Given the description of an element on the screen output the (x, y) to click on. 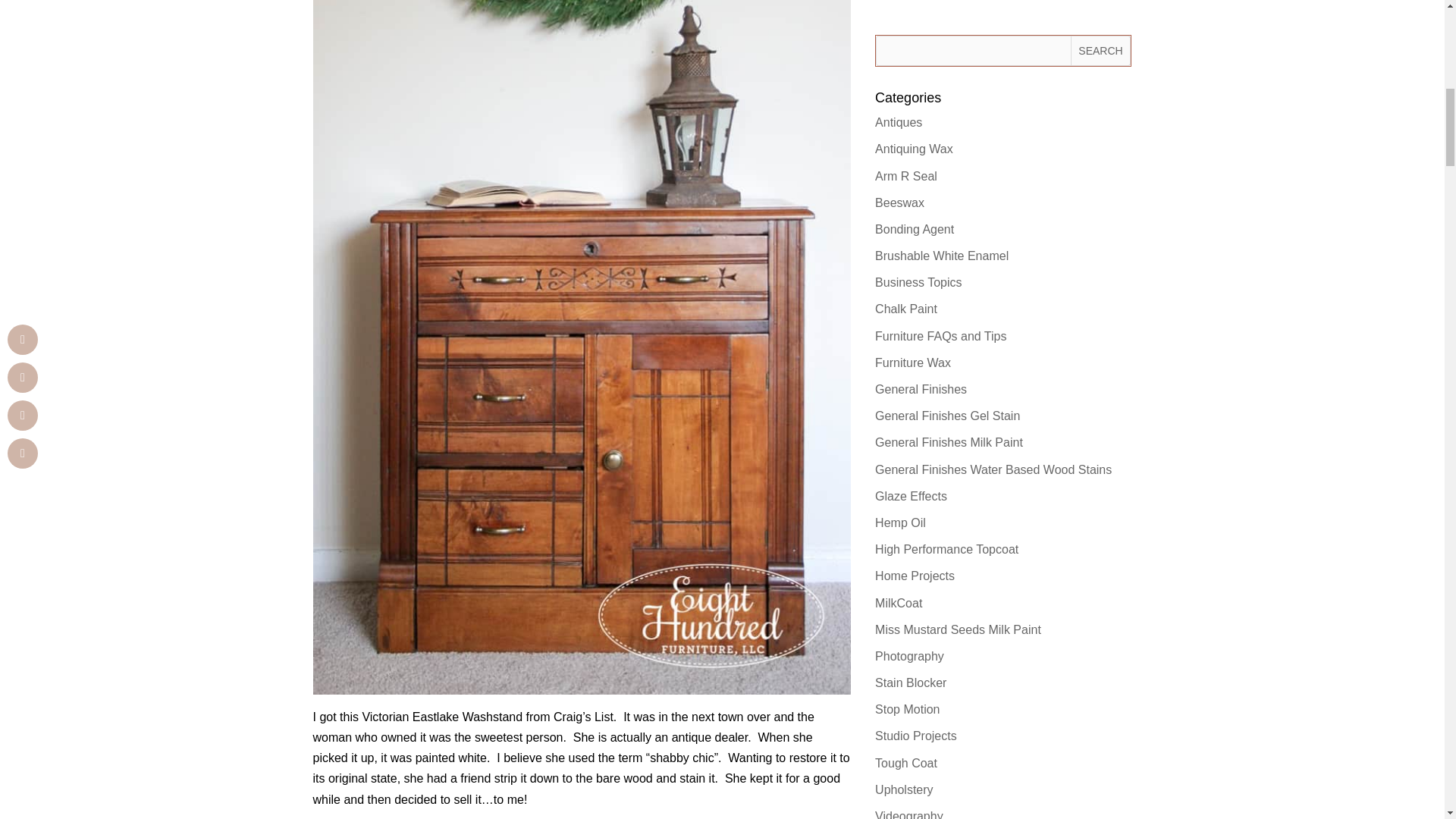
Beeswax (899, 202)
Advertisement (1003, 4)
Bonding Agent (914, 228)
Brushable White Enamel (942, 255)
Furniture Wax (912, 362)
Antiques (898, 122)
SEARCH (1100, 51)
Furniture FAQs and Tips (940, 336)
Antiquing Wax (914, 148)
Business Topics (917, 282)
General Finishes (920, 389)
Arm R Seal (906, 175)
Chalk Paint (906, 308)
